Given the description of an element on the screen output the (x, y) to click on. 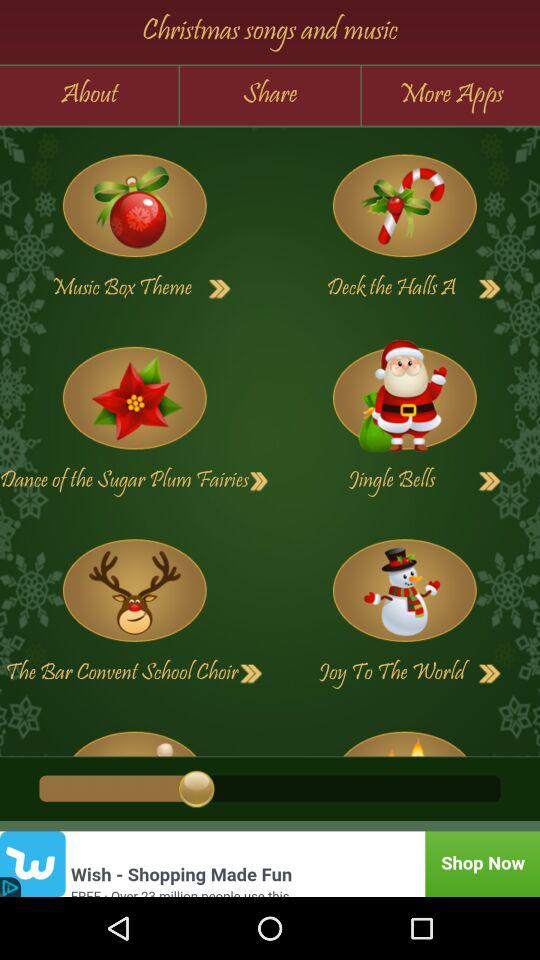
next button (259, 481)
